Given the description of an element on the screen output the (x, y) to click on. 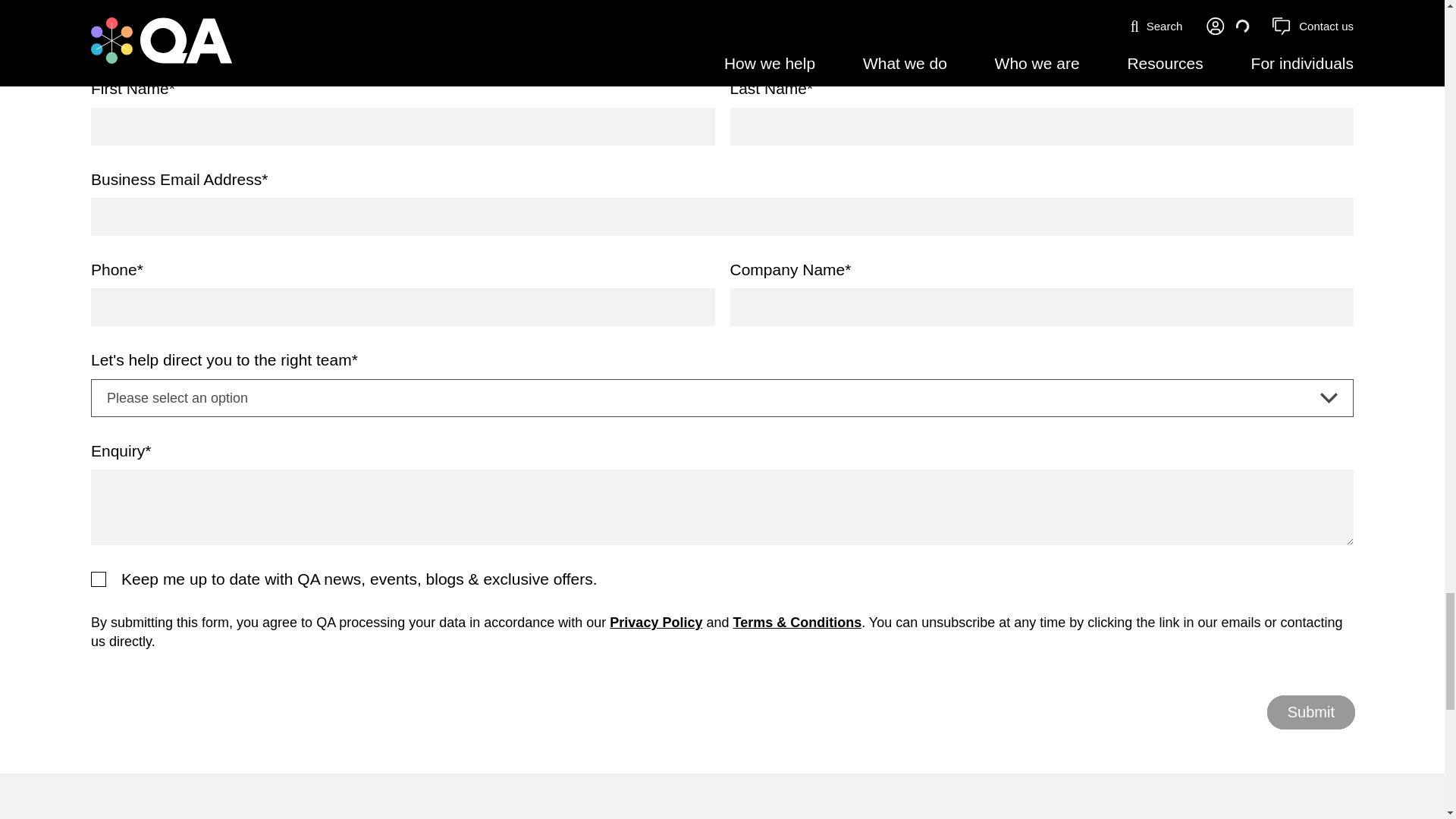
1 (98, 579)
